Given the description of an element on the screen output the (x, y) to click on. 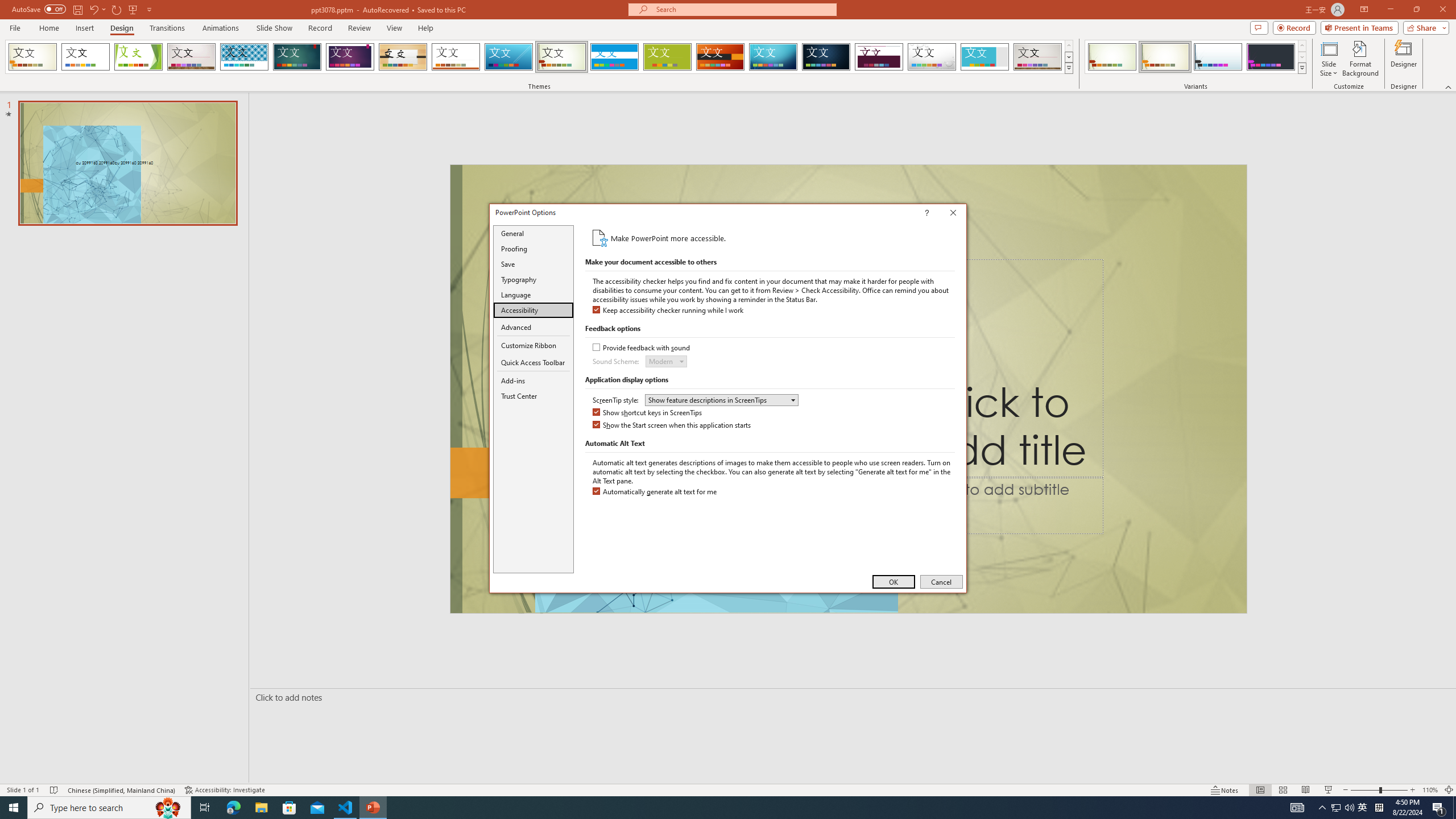
Automatically generate alt text for me (655, 491)
Sound Scheme (666, 361)
OK (893, 581)
Wisp Variant 2 (1164, 56)
